Given the description of an element on the screen output the (x, y) to click on. 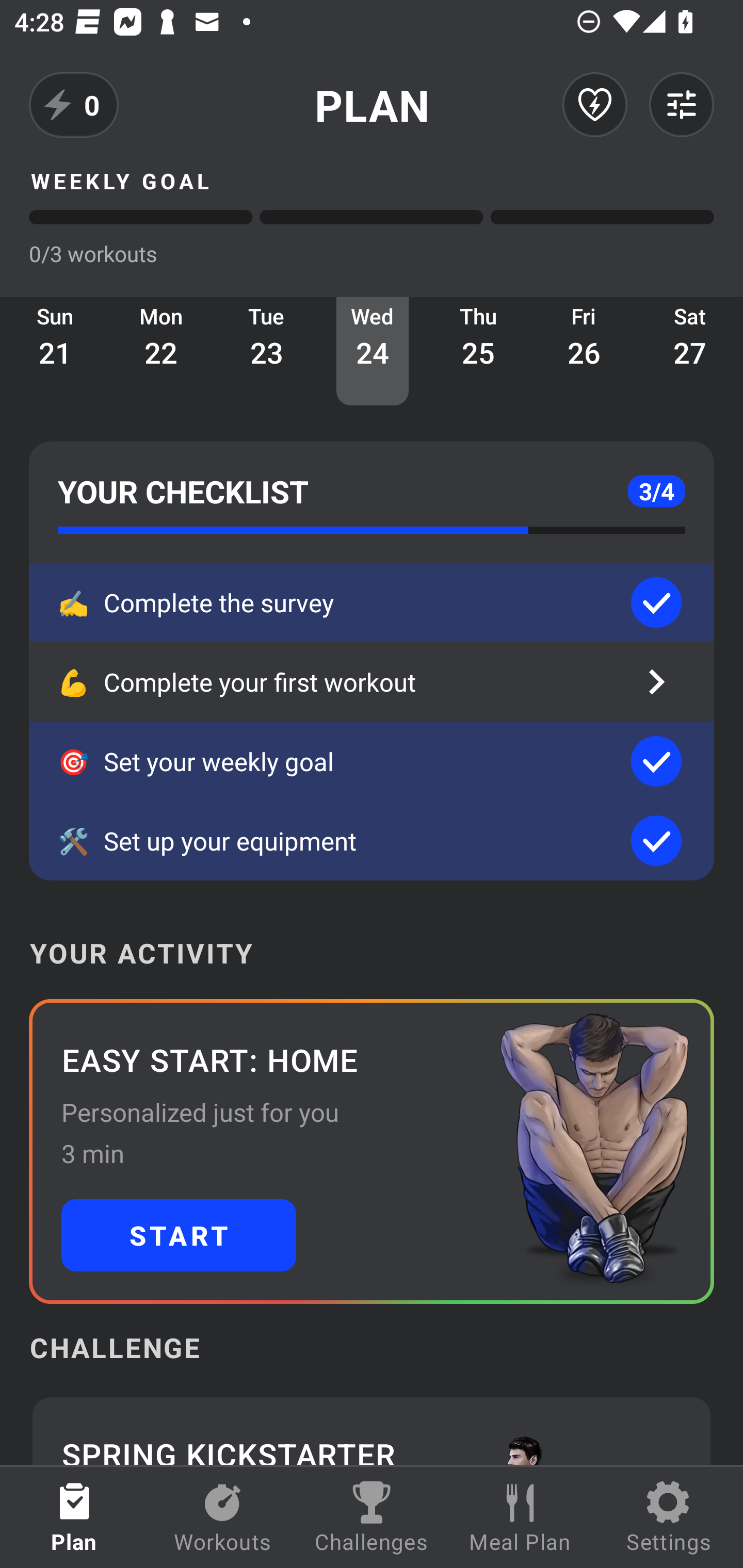
0 (73, 104)
Sun 21 (55, 351)
Mon 22 (160, 351)
Tue 23 (266, 351)
Wed 24 (372, 351)
Thu 25 (478, 351)
Fri 26 (584, 351)
Sat 27 (690, 351)
💪 Complete your first workout (371, 681)
START (178, 1235)
 Workouts  (222, 1517)
 Challenges  (371, 1517)
 Meal Plan  (519, 1517)
 Settings  (668, 1517)
